Given the description of an element on the screen output the (x, y) to click on. 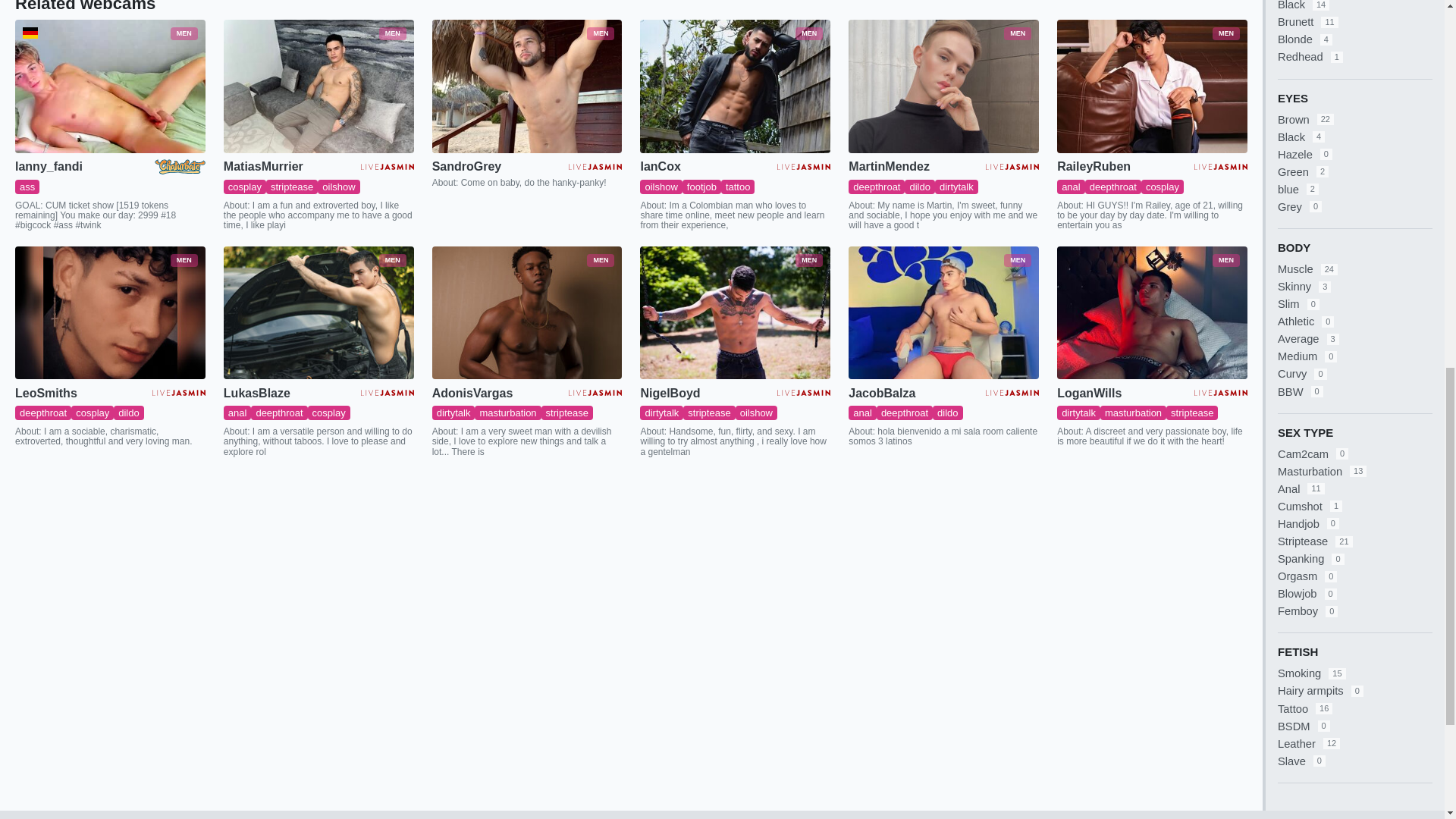
LoganWillsLive Webcam (1152, 313)
LeoSmithsLive Webcam (109, 313)
LukasBlazeLive Webcam (318, 313)
MEN (318, 86)
MatiasMurrierLive Webcam (318, 86)
NigelBoydLive Webcam (734, 313)
AdonisVargasLive Webcam (527, 313)
ass (26, 186)
JacobBalzaLive Webcam (943, 313)
MEN (109, 86)
